Given the description of an element on the screen output the (x, y) to click on. 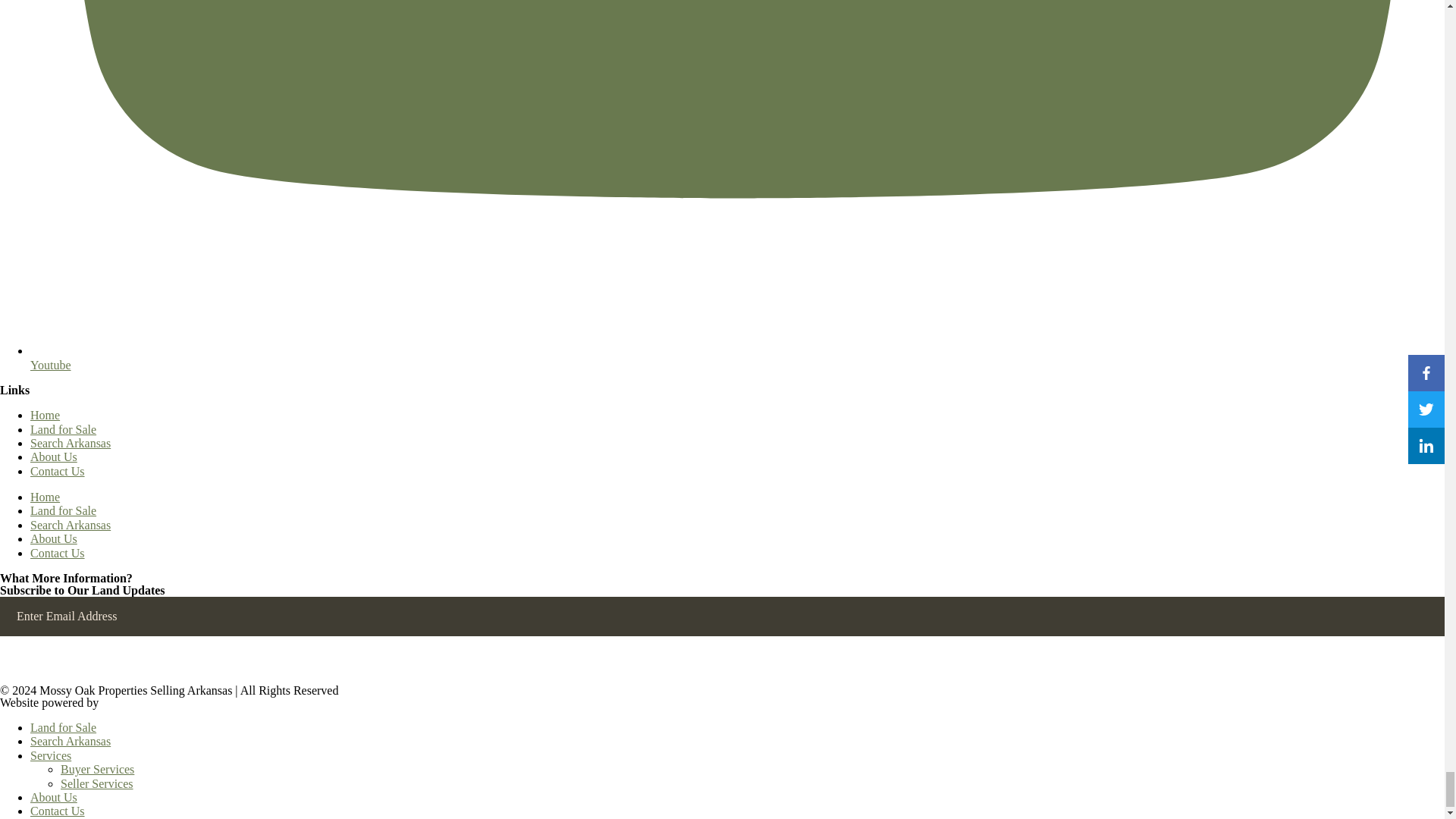
Submit (27, 671)
